Given the description of an element on the screen output the (x, y) to click on. 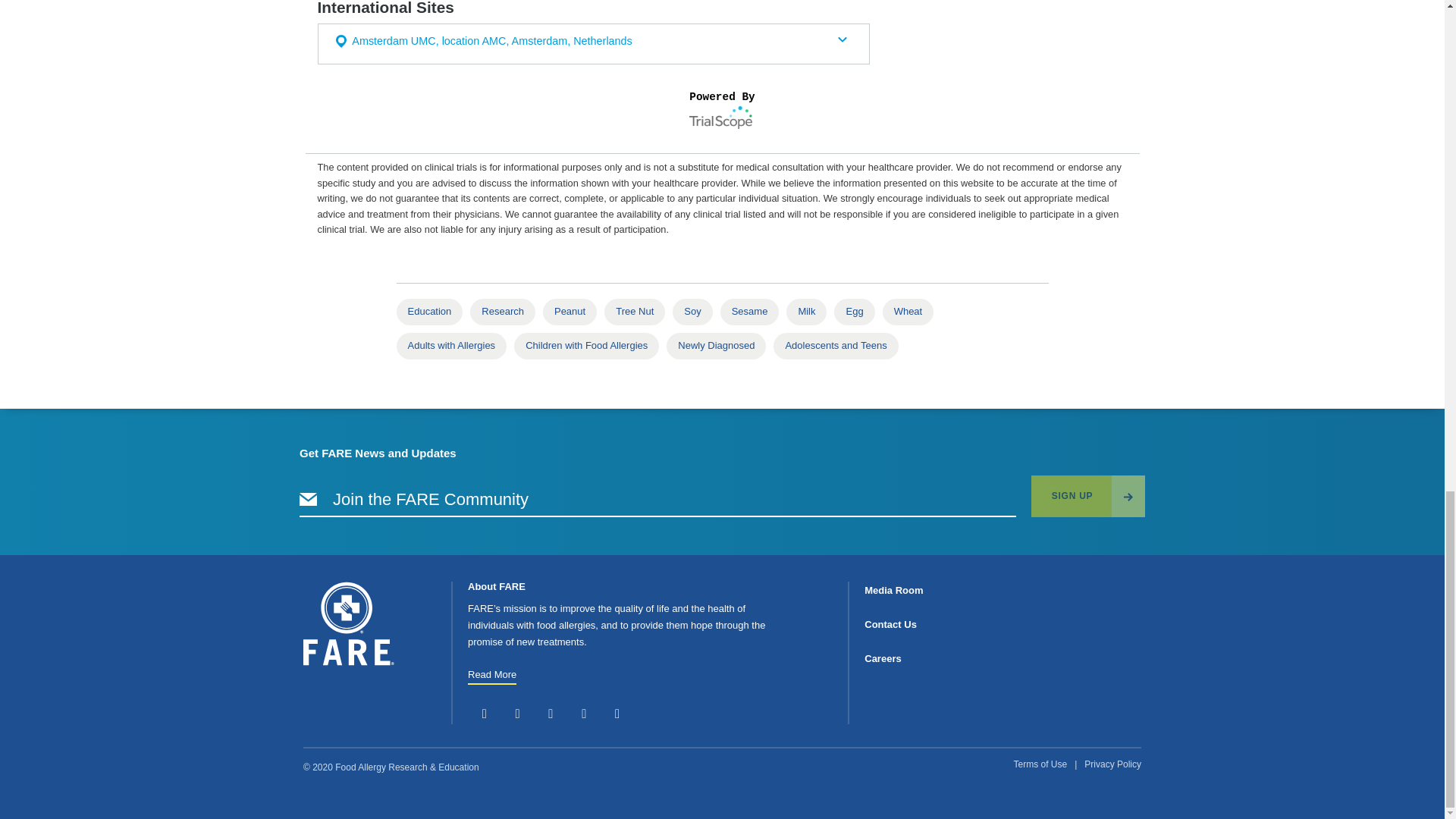
Sign Up (1087, 496)
